Given the description of an element on the screen output the (x, y) to click on. 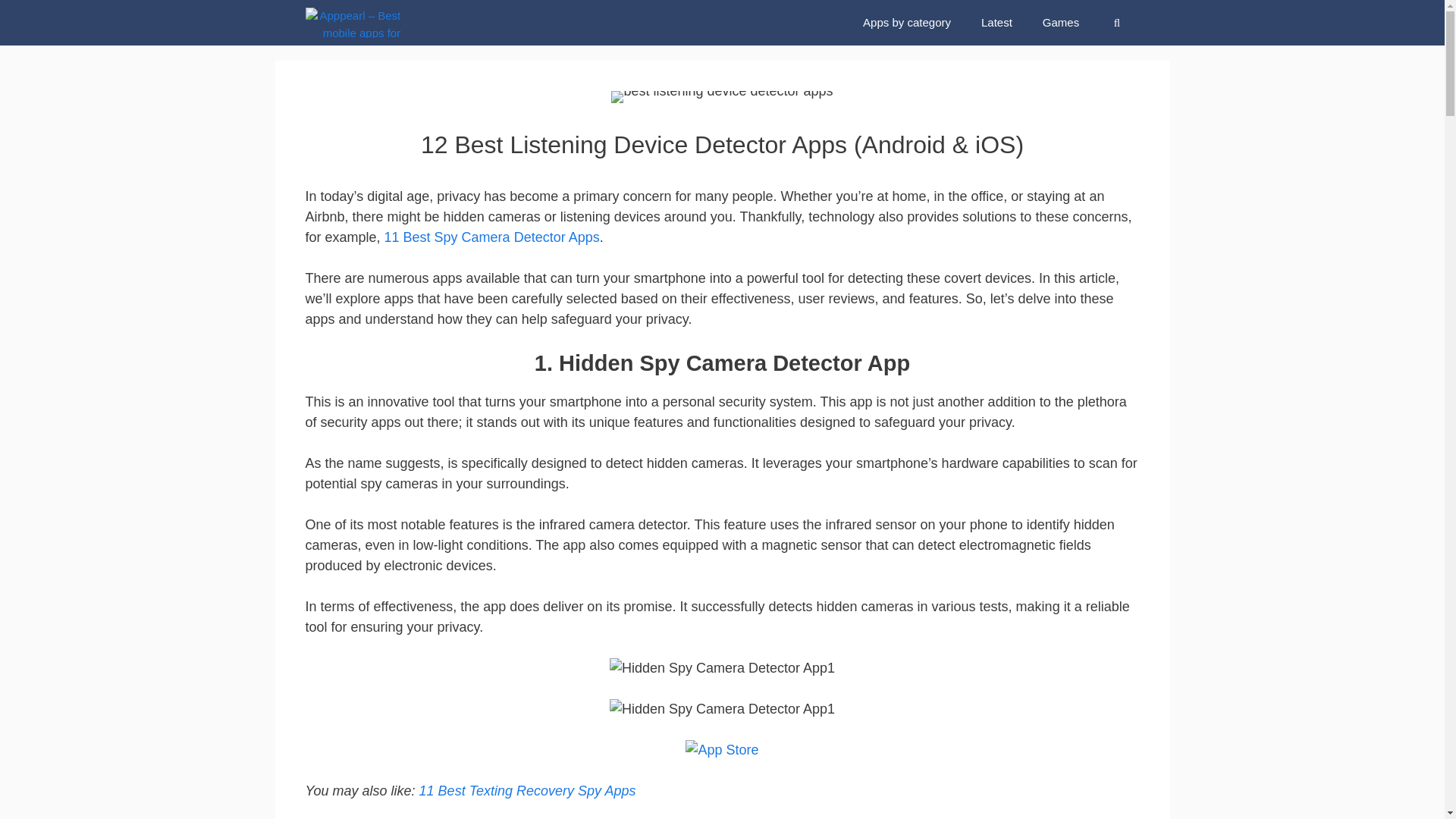
11 Best Spy Camera Detector Apps (491, 237)
Games (1060, 22)
Apps by category (906, 22)
11 Best Texting Recovery Spy Apps (527, 790)
Latest (996, 22)
